Given the description of an element on the screen output the (x, y) to click on. 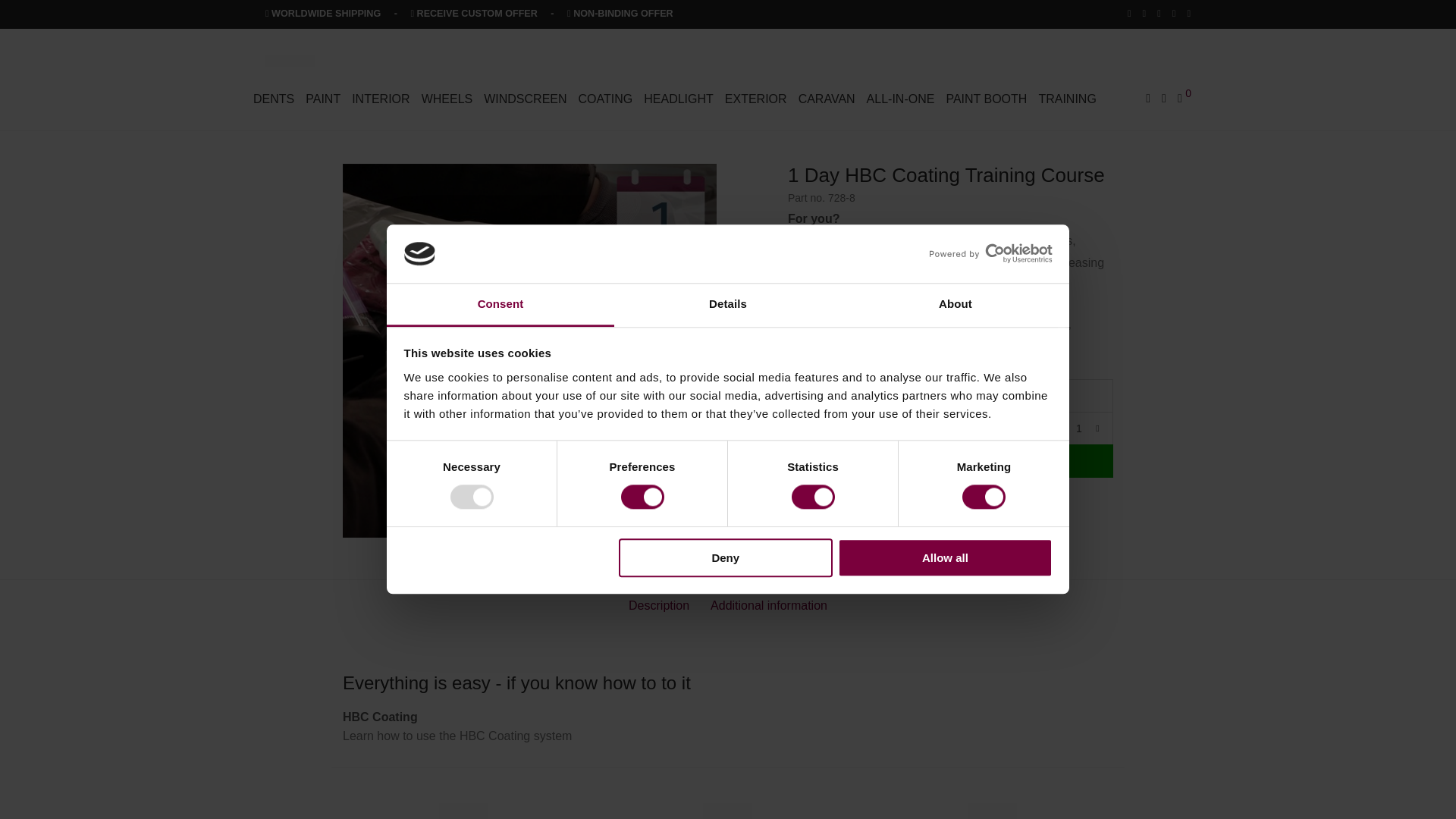
Instagram (1144, 13)
Details (727, 304)
1 (1078, 428)
Facebook (1128, 13)
Consent (500, 304)
About (954, 304)
